Given the description of an element on the screen output the (x, y) to click on. 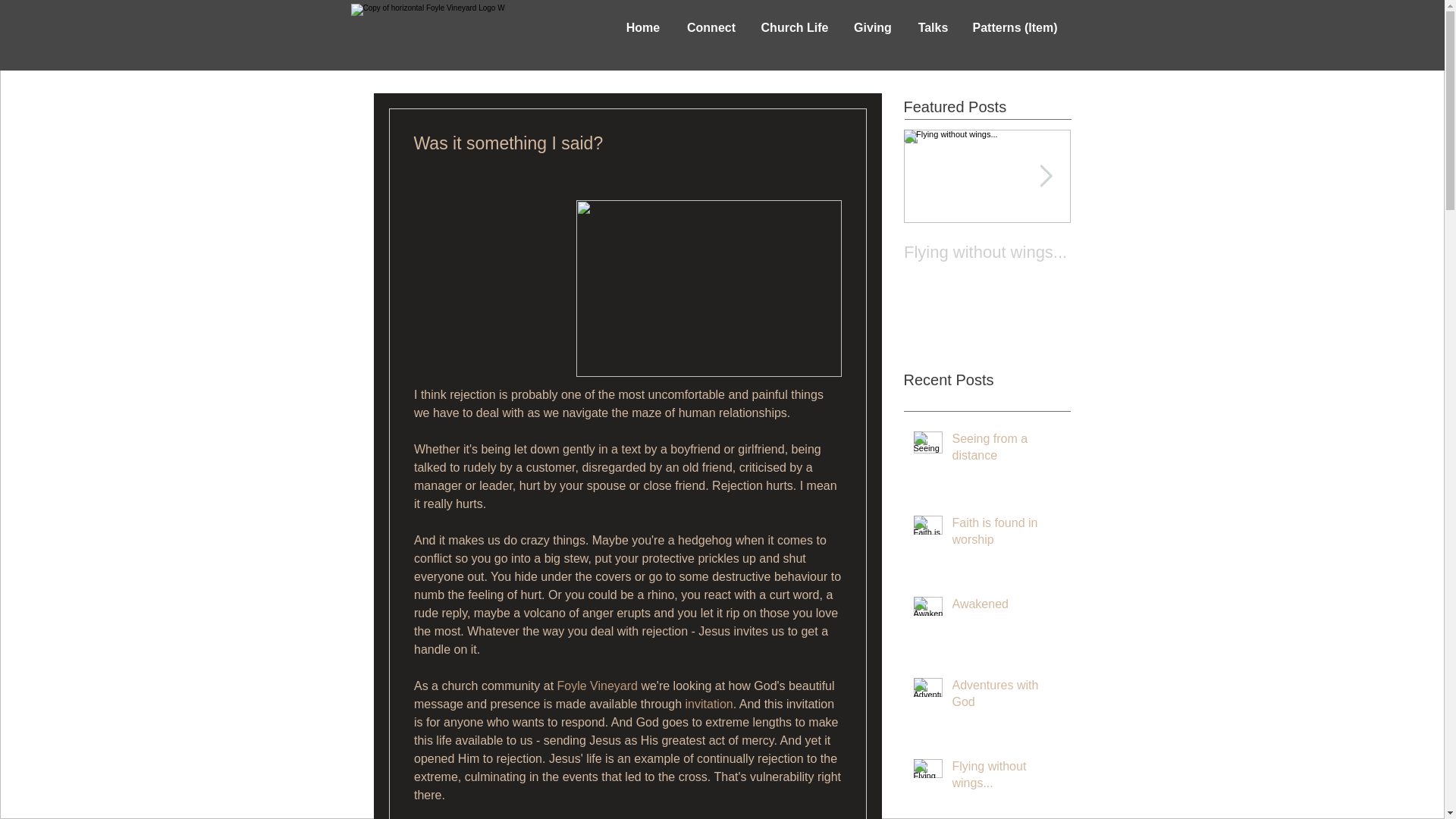
Flying without wings... (1006, 778)
Awakened (987, 236)
Home (1006, 607)
Faith is found in worship (987, 236)
Adventures with God (643, 27)
Seeing from a distance (1006, 535)
Giving (1006, 697)
Flying without wings... (1006, 450)
Talks (872, 27)
invitation (987, 252)
 Foyle Vineyard  (932, 27)
When you pray... (708, 703)
